Given the description of an element on the screen output the (x, y) to click on. 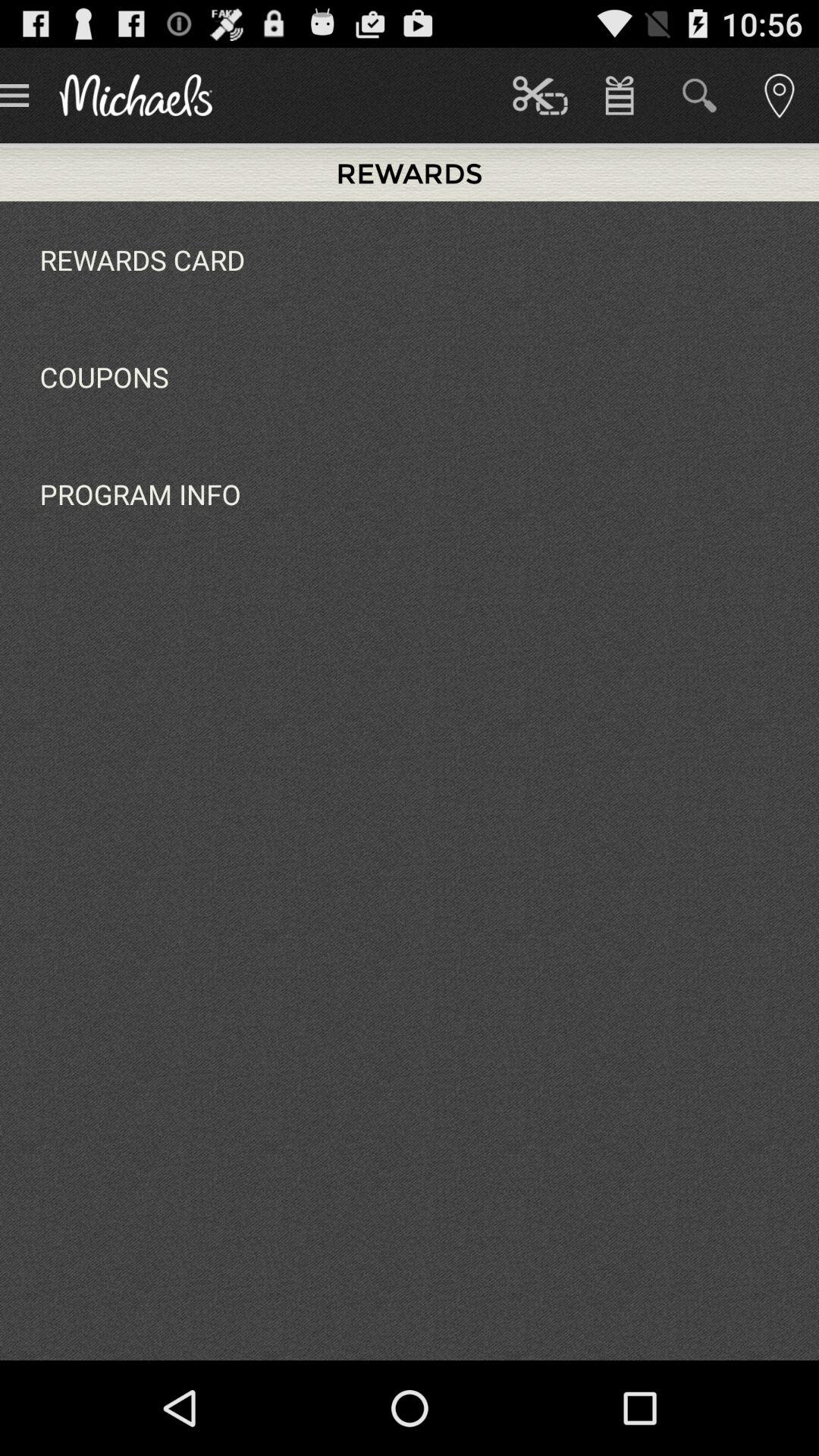
click the item below the coupons icon (140, 494)
